Given the description of an element on the screen output the (x, y) to click on. 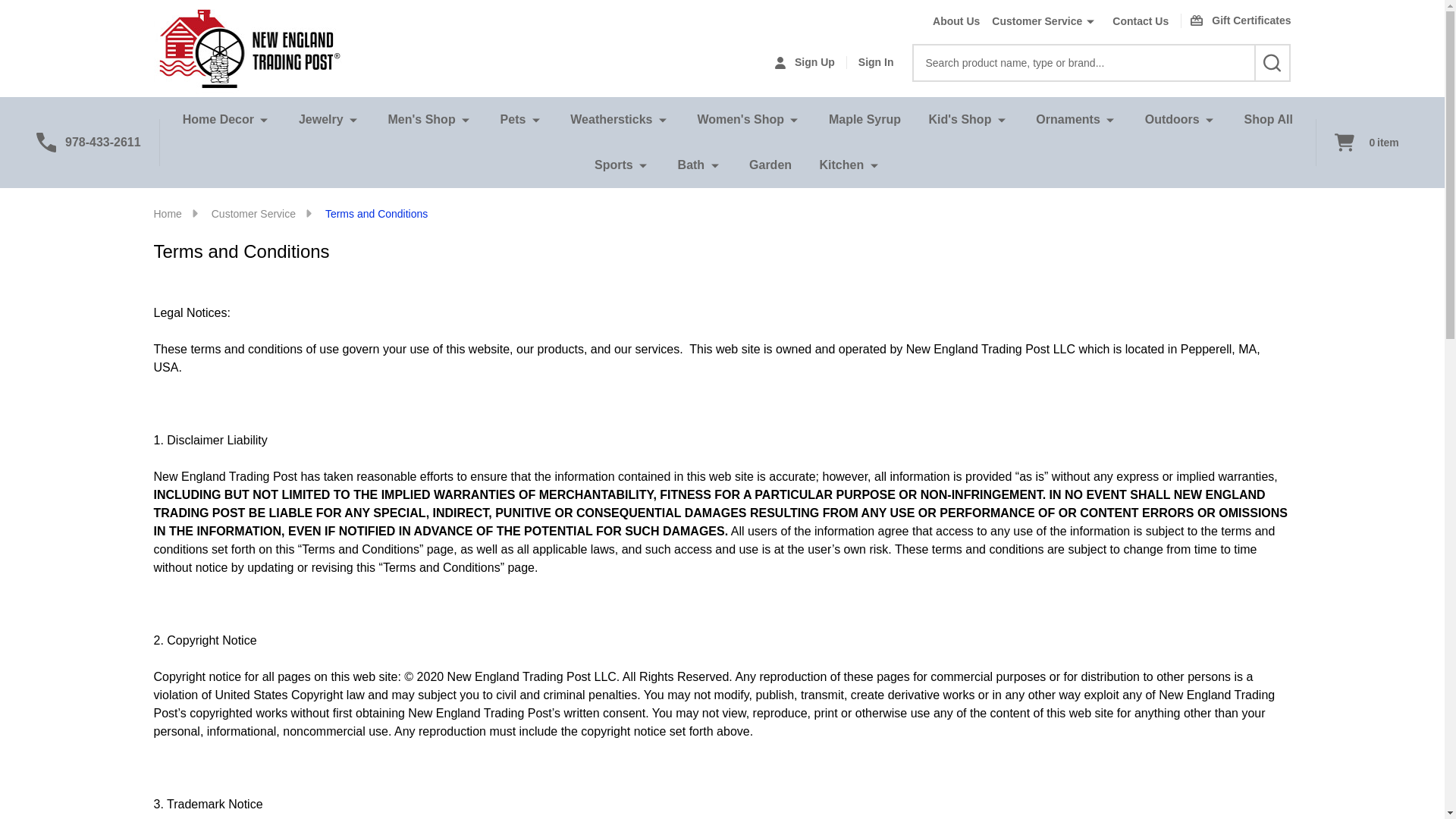
About Us (949, 21)
Sign Up (804, 62)
978-433-2611 (98, 142)
Men's Shop (424, 119)
Call Us: 978-433-2611 (98, 142)
Home Decor (221, 119)
Sign Up (804, 62)
Sign In (876, 62)
SEARCH (1271, 62)
Gift Certificates (1229, 20)
New England Trading Post (247, 48)
Sign In (876, 62)
Jewelry (323, 119)
Contact Us (1134, 21)
Gift Certificates (1229, 20)
